Given the description of an element on the screen output the (x, y) to click on. 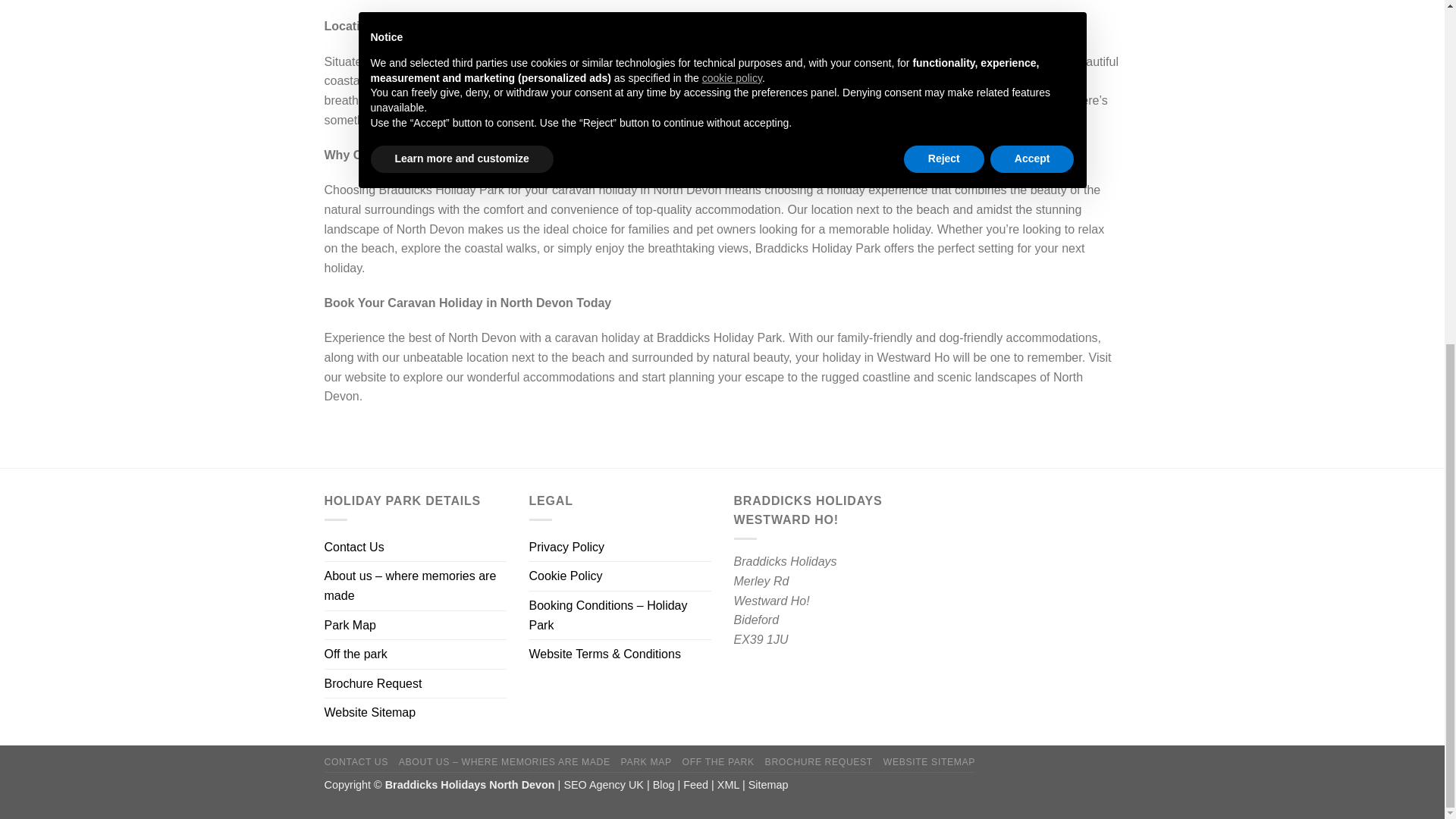
Contact Us (354, 547)
Park Map (349, 624)
SEO Agency UK (603, 784)
LiveChat chat widget (1307, 200)
Off the park (355, 654)
